Given the description of an element on the screen output the (x, y) to click on. 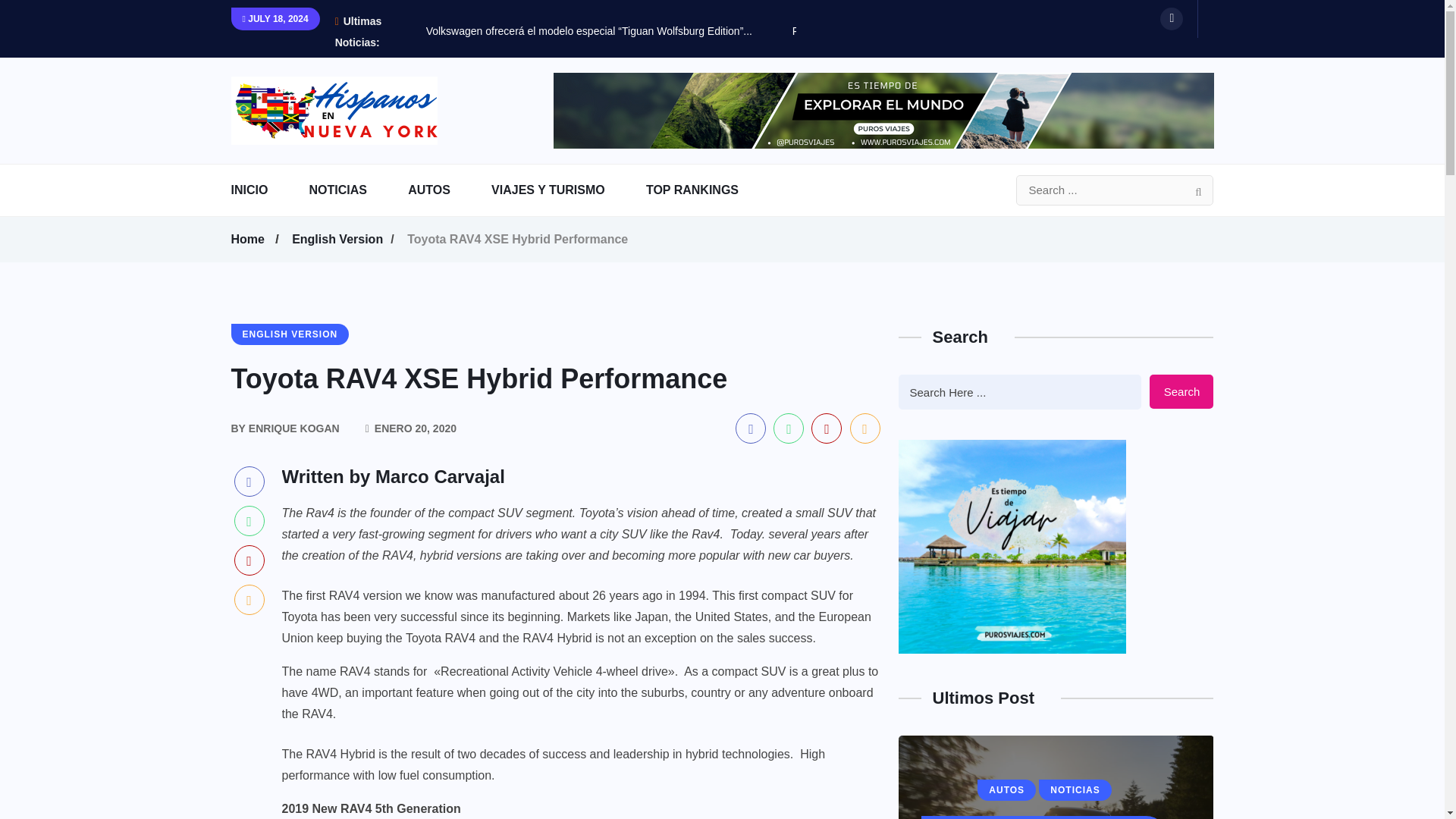
English Version (340, 239)
ENGLISH VERSION (289, 333)
TOP RANKINGS (711, 190)
Home (249, 239)
NOTICIAS (356, 190)
AUTOS (447, 190)
INICIO (267, 190)
VIAJES Y TURISMO (567, 190)
